Given the description of an element on the screen output the (x, y) to click on. 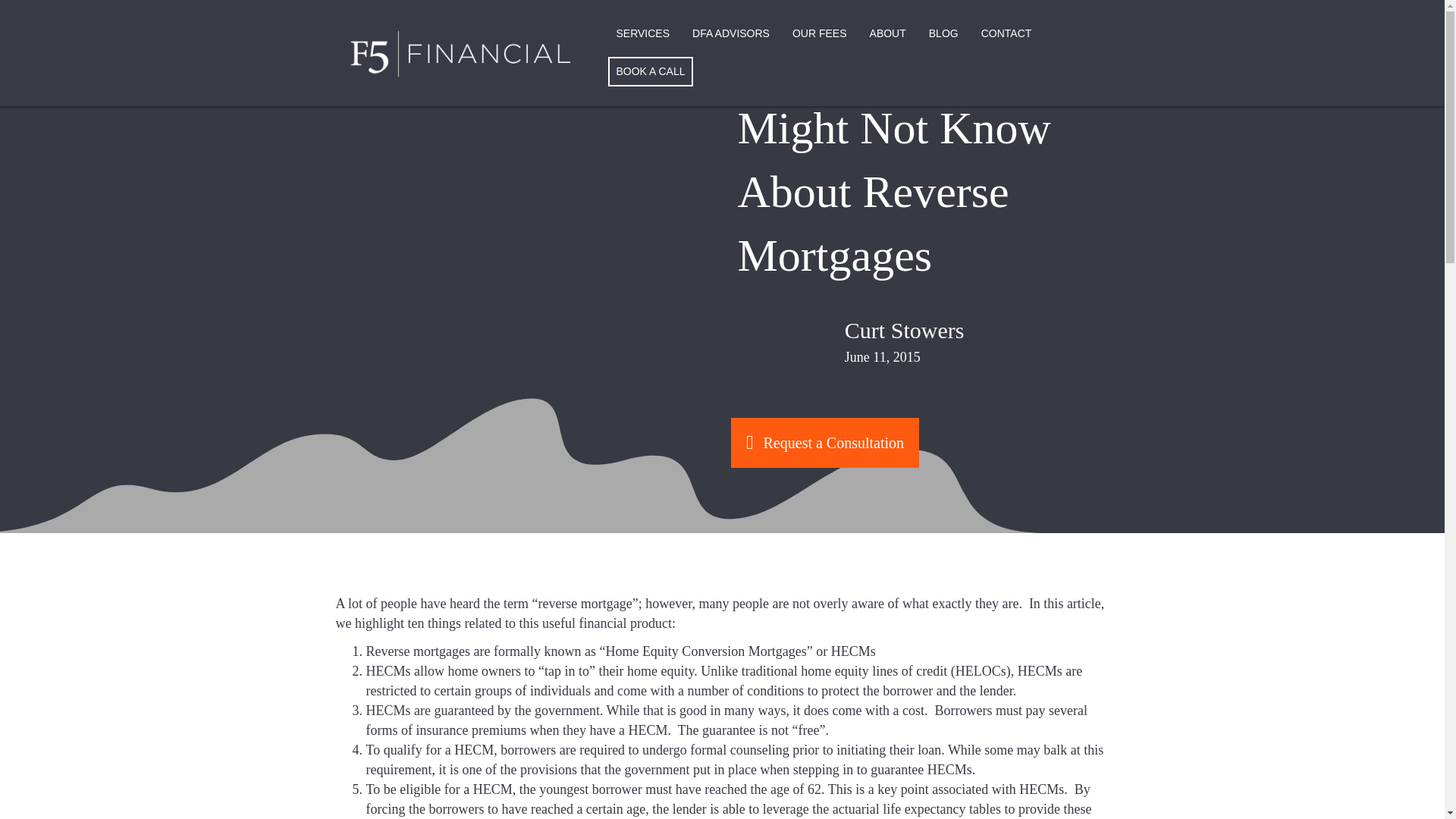
BOOK A CALL (650, 71)
Request a Consultation (824, 442)
BLOG (943, 34)
DFA ADVISORS (730, 34)
SERVICES (642, 34)
ABOUT (888, 34)
F5 Financial Blog (943, 34)
OUR FEES (819, 34)
CONTACT (1006, 34)
Curt Stowers (903, 330)
